Given the description of an element on the screen output the (x, y) to click on. 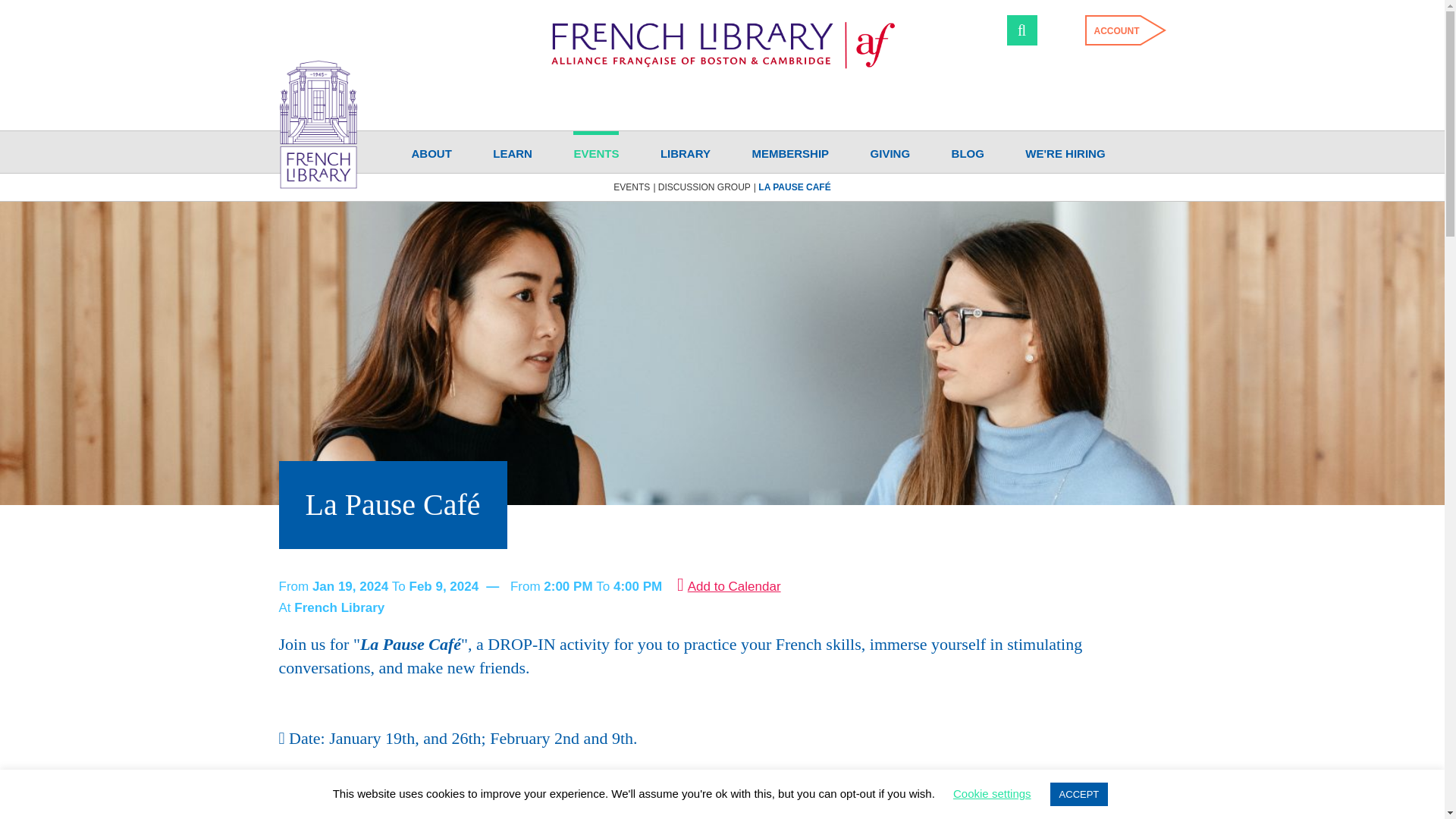
GIVING (890, 151)
ACCOUNT (1111, 30)
MEMBERSHIP (789, 151)
Events (630, 186)
WE'RE HIRING (1065, 151)
LIBRARY (685, 151)
EVENTS (595, 151)
LEARN (512, 151)
Discussion Group (704, 186)
ABOUT (430, 151)
